Given the description of an element on the screen output the (x, y) to click on. 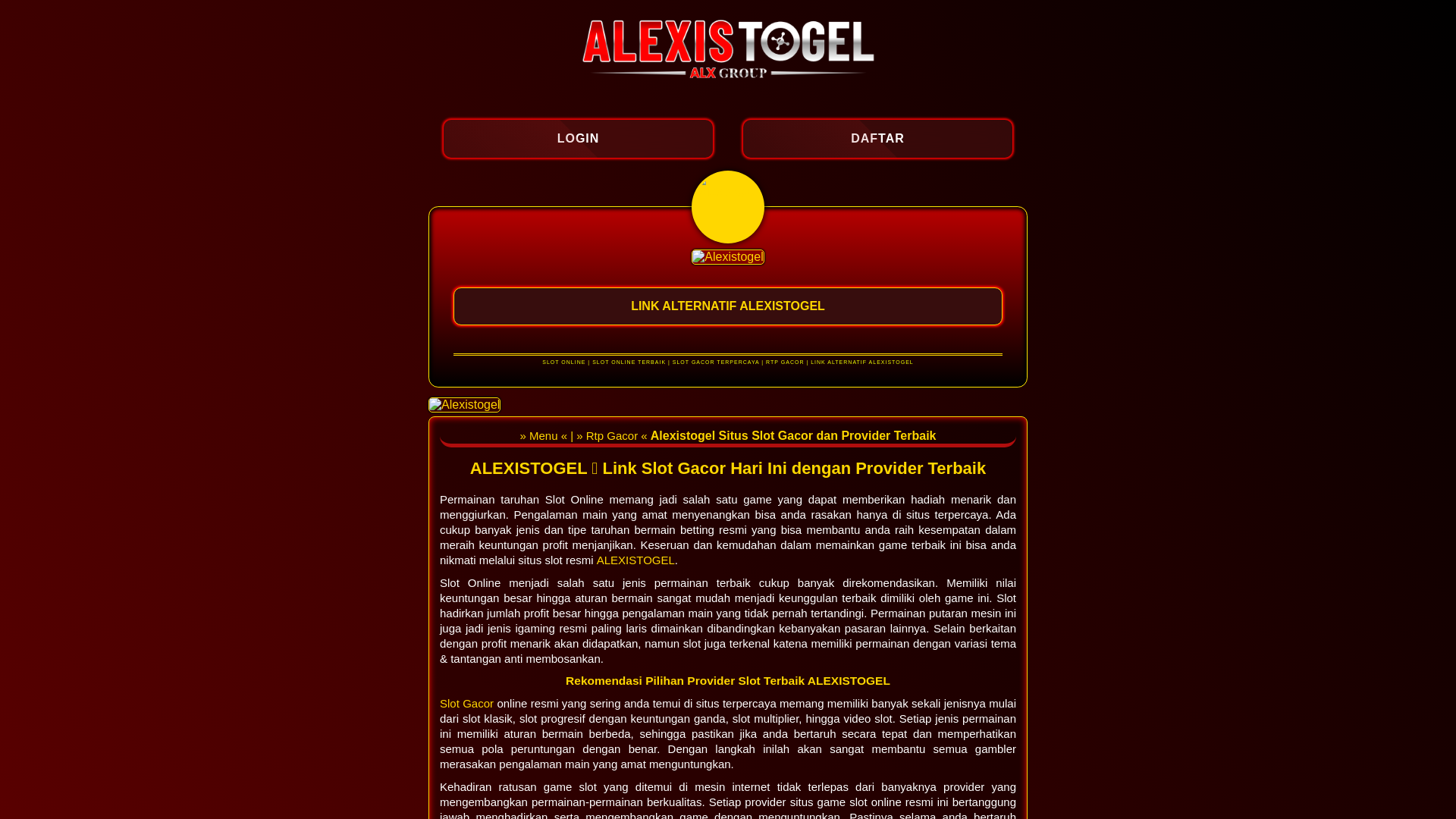
LINK ALTERNATIF ALEXISTOGEL (727, 305)
ALEXISTOGEL (635, 559)
Slot Gacor (467, 703)
LOGIN (578, 138)
DAFTAR (877, 138)
